Given the description of an element on the screen output the (x, y) to click on. 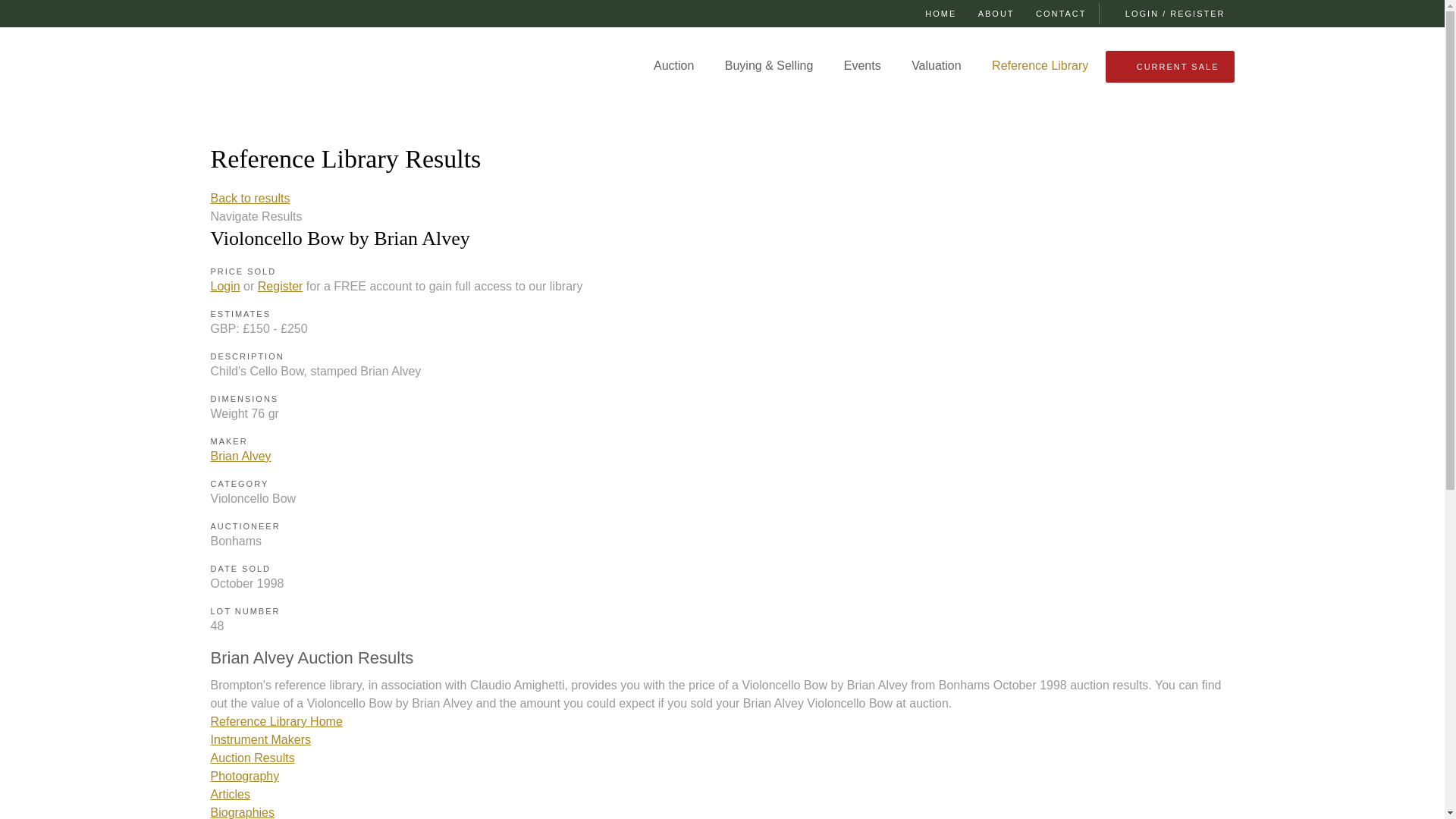
Auction (673, 65)
Brompton's Auctioneers (289, 69)
Valuation (936, 65)
Events (862, 65)
